Given the description of an element on the screen output the (x, y) to click on. 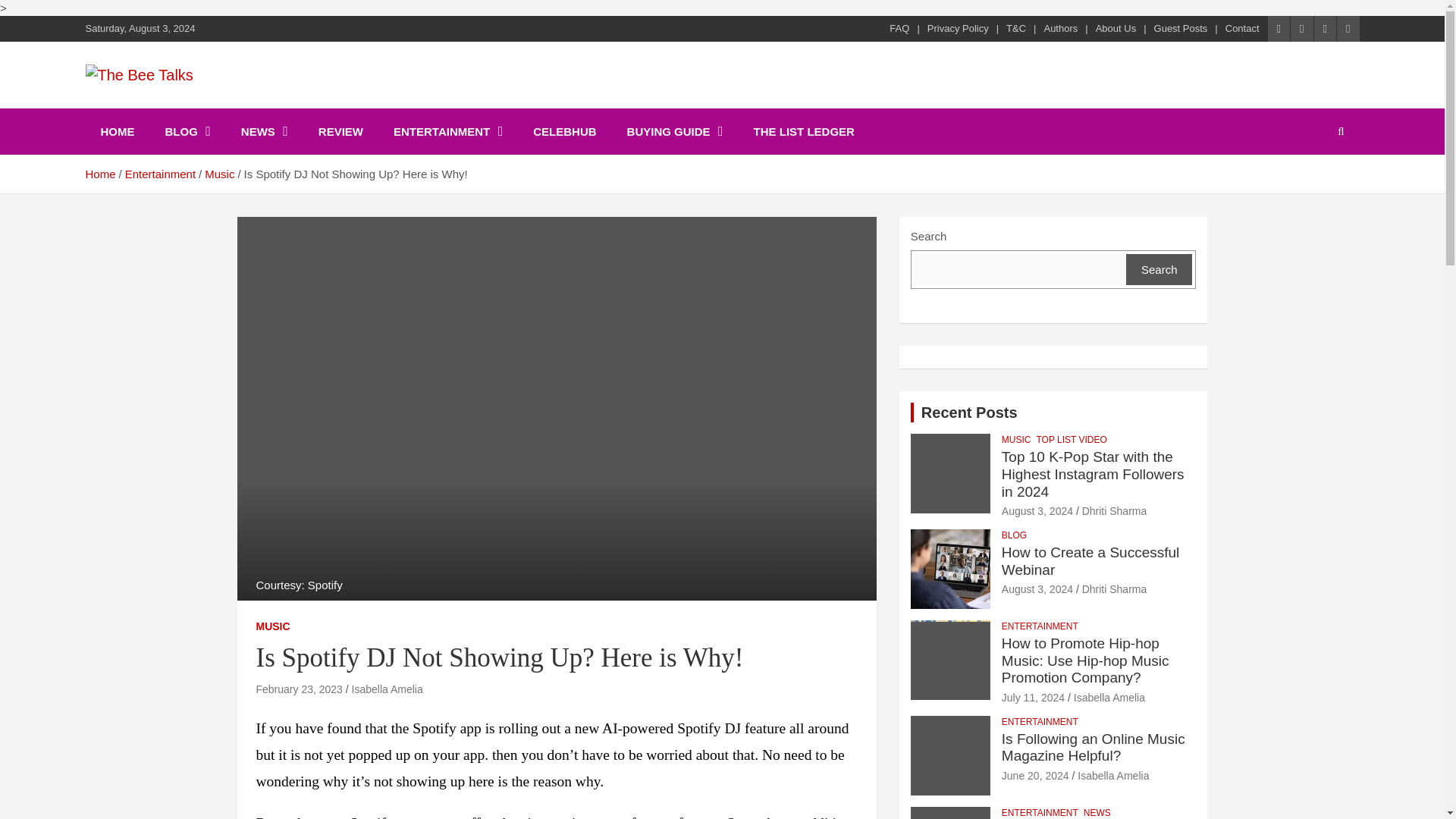
Is Following an Online Music Magazine Helpful? (1034, 775)
Is Spotify DJ Not Showing Up? Here is Why! (299, 689)
About Us (1115, 29)
BUYING GUIDE (674, 131)
REVIEW (340, 131)
NEWS (263, 131)
FAQ (898, 29)
How to Create a Successful Webinar (1037, 589)
Home (99, 173)
Authors (1060, 29)
The Bee Talks (185, 105)
Contact (1242, 29)
THE LIST LEDGER (803, 131)
